Given the description of an element on the screen output the (x, y) to click on. 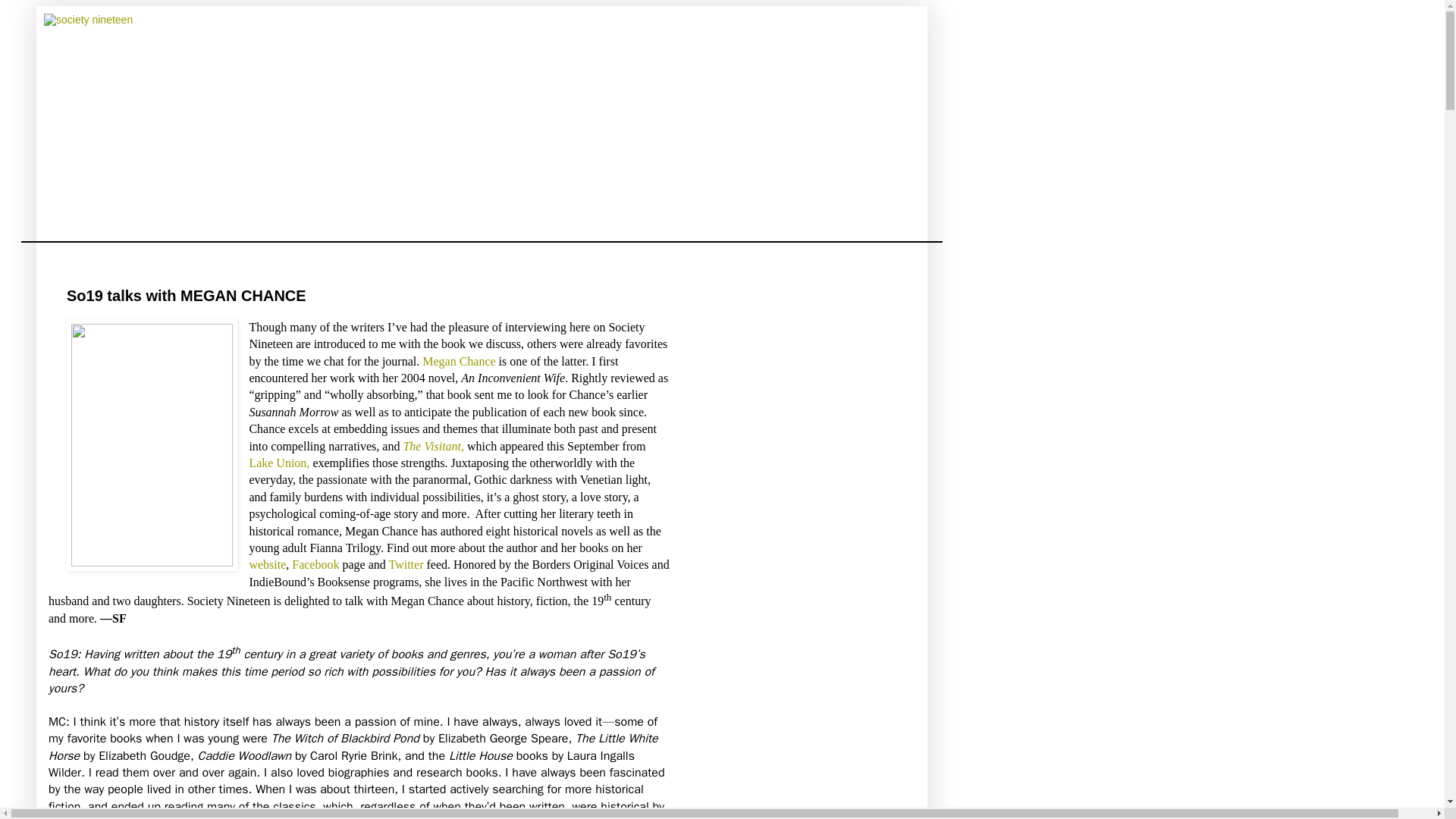
The Visitant, (433, 445)
website (266, 563)
Lake Union, (278, 462)
Megan Chance (459, 360)
Twitter (407, 563)
Facebook (317, 563)
